Given the description of an element on the screen output the (x, y) to click on. 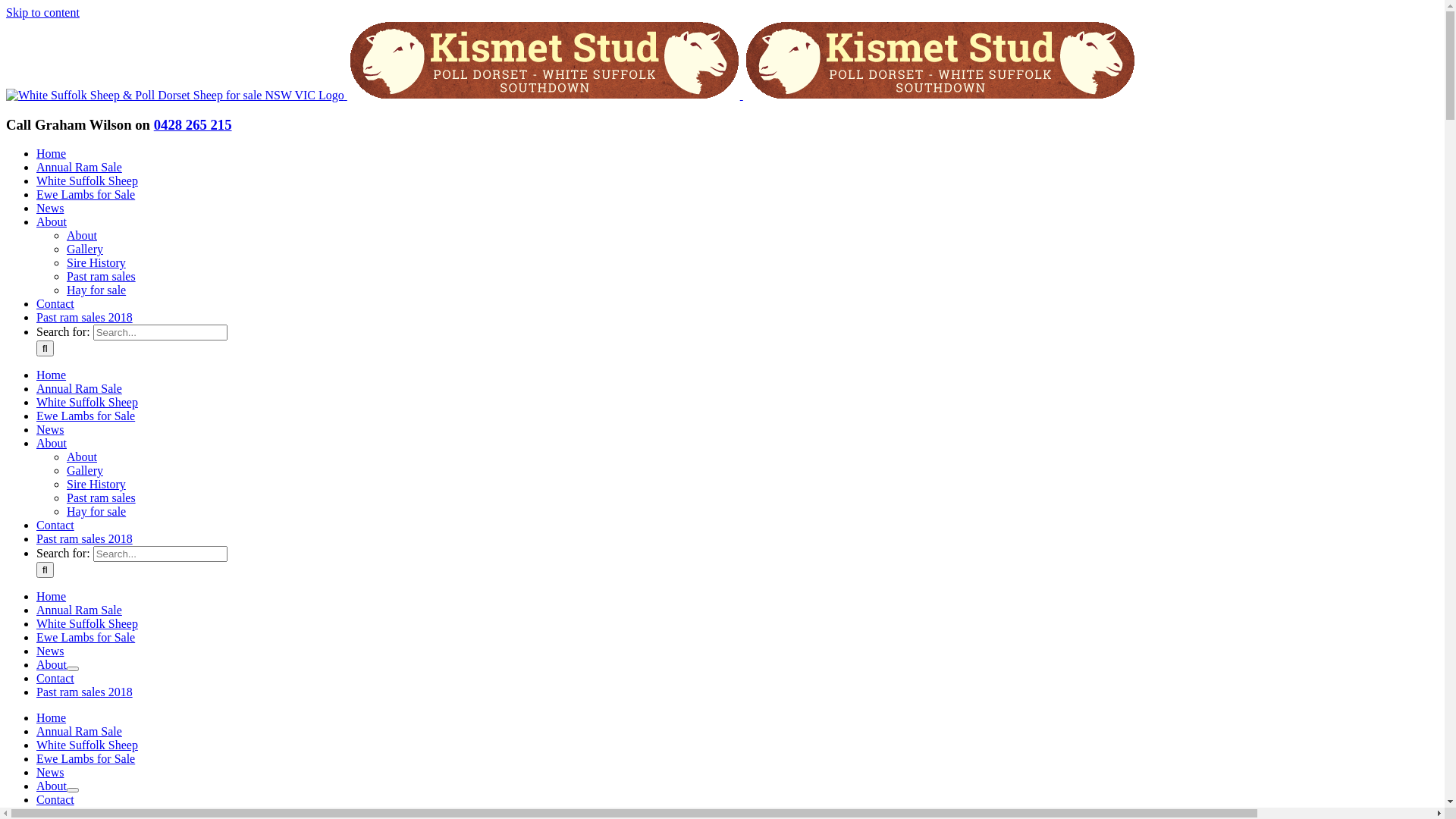
Home Element type: text (50, 374)
Hay for sale Element type: text (95, 289)
Contact Element type: text (55, 677)
About Element type: text (51, 785)
Contact Element type: text (55, 303)
White Suffolk Sheep Element type: text (87, 180)
Annual Ram Sale Element type: text (79, 388)
Hay for sale Element type: text (95, 511)
Ewe Lambs for Sale Element type: text (85, 194)
News Element type: text (49, 429)
About Element type: text (51, 664)
Sire History Element type: text (95, 483)
Home Element type: text (50, 717)
About Element type: text (51, 442)
Contact Element type: text (55, 524)
About Element type: text (81, 235)
News Element type: text (49, 771)
0428 265 215 Element type: text (192, 124)
Past ram sales 2018 Element type: text (84, 316)
About Element type: text (81, 456)
About Element type: text (51, 221)
White Suffolk Sheep Element type: text (87, 744)
Ewe Lambs for Sale Element type: text (85, 758)
Past ram sales Element type: text (100, 275)
Annual Ram Sale Element type: text (79, 730)
Ewe Lambs for Sale Element type: text (85, 415)
Home Element type: text (50, 595)
Skip to content Element type: text (42, 12)
Annual Ram Sale Element type: text (79, 166)
News Element type: text (49, 650)
Sire History Element type: text (95, 262)
Past ram sales Element type: text (100, 497)
Contact Element type: text (55, 799)
Gallery Element type: text (84, 248)
Past ram sales 2018 Element type: text (84, 691)
Annual Ram Sale Element type: text (79, 609)
White Suffolk Sheep Element type: text (87, 401)
News Element type: text (49, 207)
Gallery Element type: text (84, 470)
Home Element type: text (50, 153)
Past ram sales 2018 Element type: text (84, 538)
Ewe Lambs for Sale Element type: text (85, 636)
White Suffolk Sheep Element type: text (87, 623)
